Given the description of an element on the screen output the (x, y) to click on. 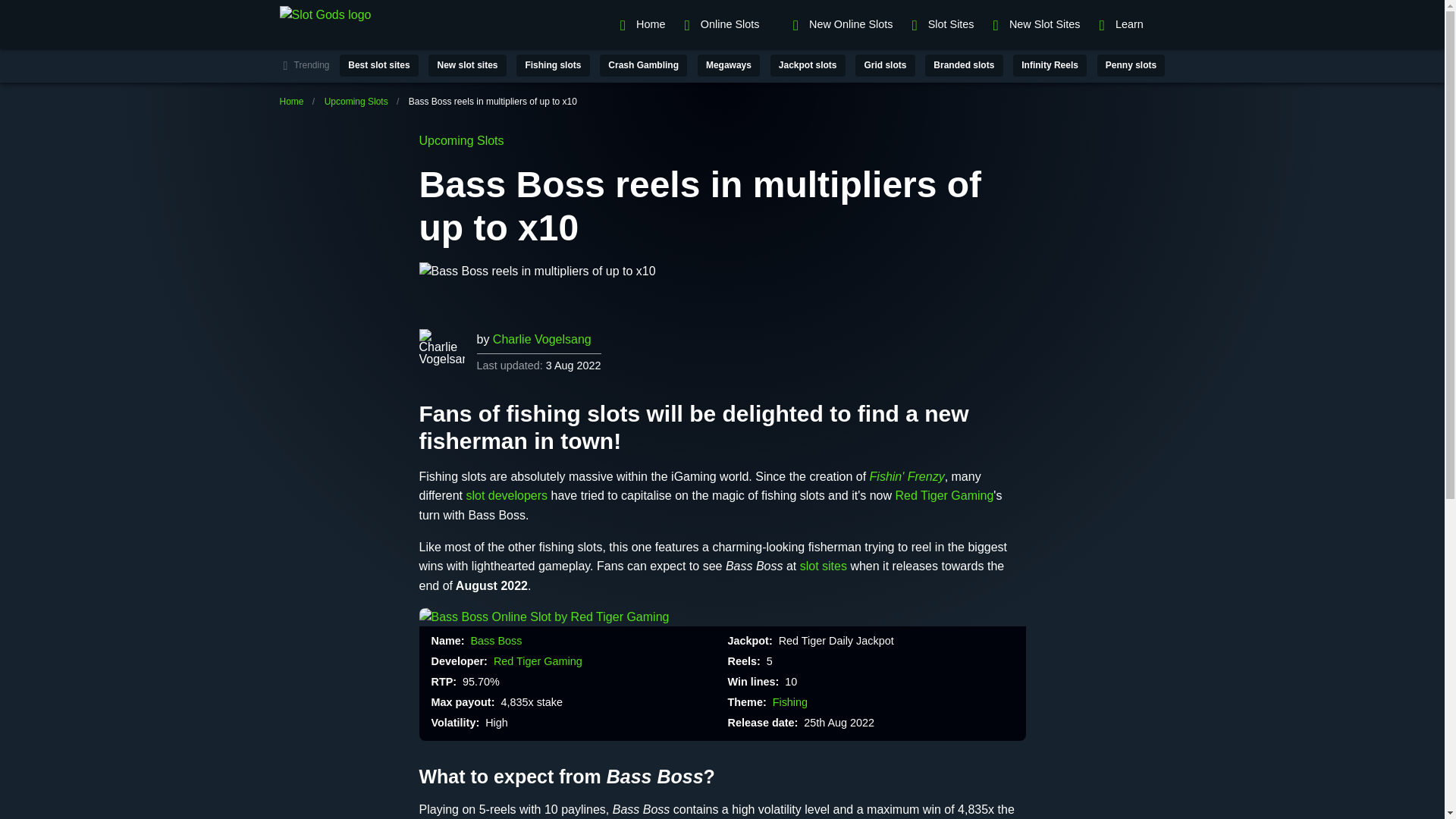
Learn (1125, 24)
Upcoming Slots (356, 101)
Charlie Vogelsang (542, 338)
Crash Gambling (643, 65)
Penny slots (1131, 65)
Online Slots (726, 24)
Grid slots (885, 65)
Home (290, 101)
New slot sites (466, 65)
New Slot Sites (1034, 24)
Fishing slots (552, 65)
Jackpot slots (807, 65)
Infinity Reels (1049, 65)
Best slot sites (379, 65)
Upcoming Slots (461, 140)
